Given the description of an element on the screen output the (x, y) to click on. 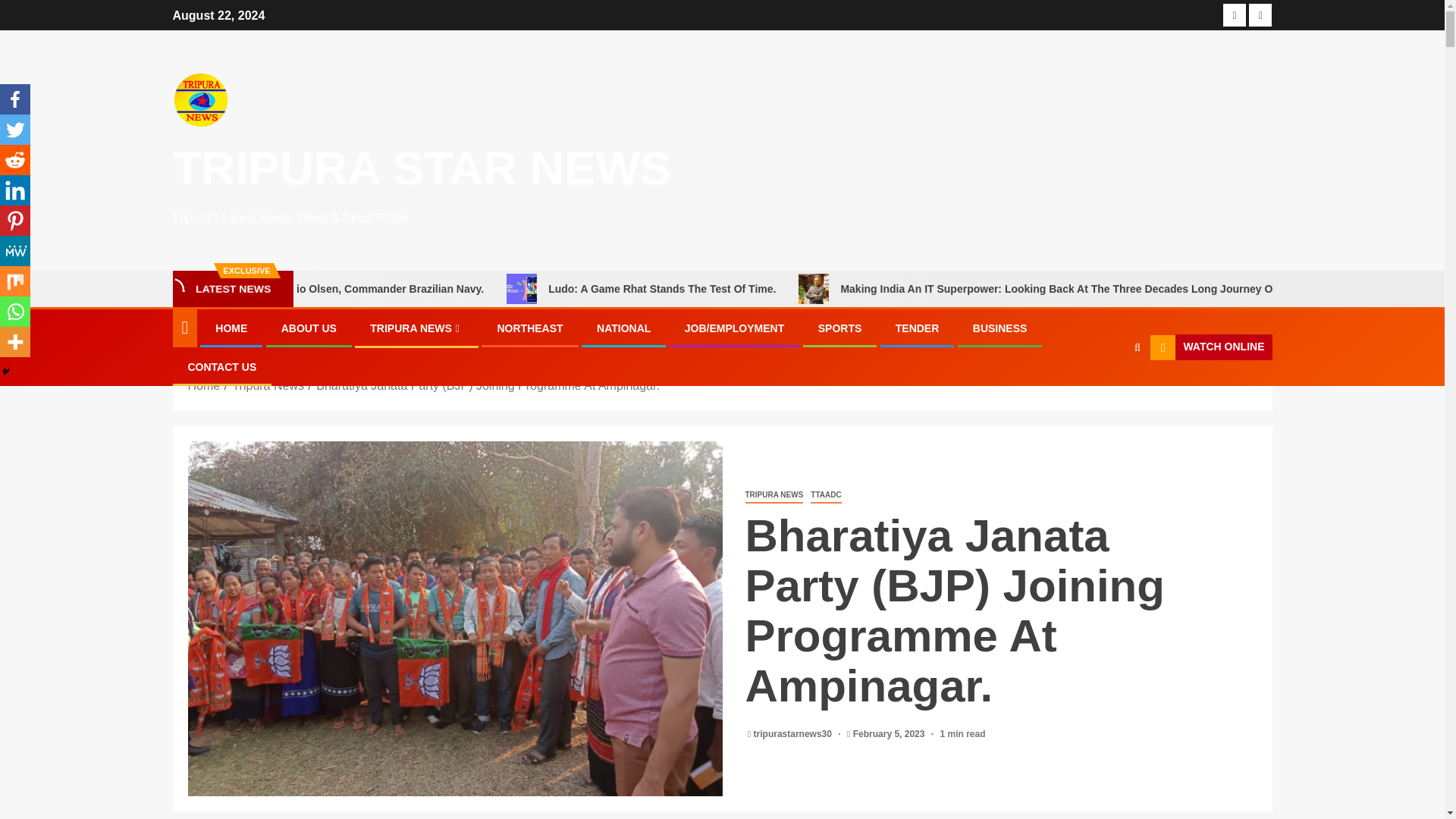
TTAADC (825, 495)
SPORTS (839, 328)
TRIPURA NEWS (416, 328)
Ludo: A Game Rhat Stands The Test Of Time. (844, 288)
Search (1107, 393)
BUSINESS (999, 328)
tripurastarnews30 (794, 733)
Home (204, 385)
CONTACT US (222, 367)
